Given the description of an element on the screen output the (x, y) to click on. 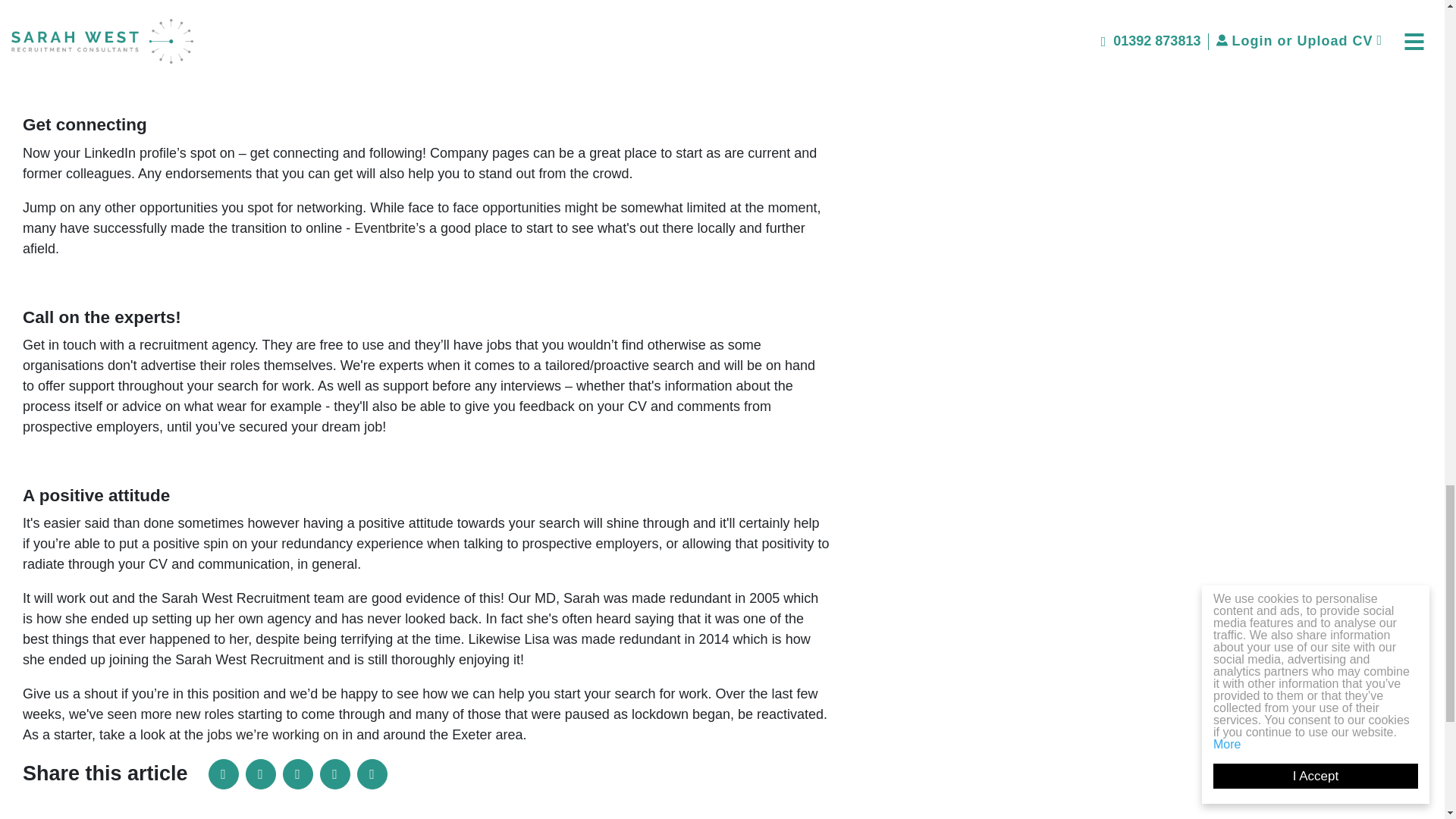
Whatsapp (371, 774)
Facebook (261, 774)
Email (335, 774)
LinkedIn (223, 774)
Twitter (297, 774)
